Given the description of an element on the screen output the (x, y) to click on. 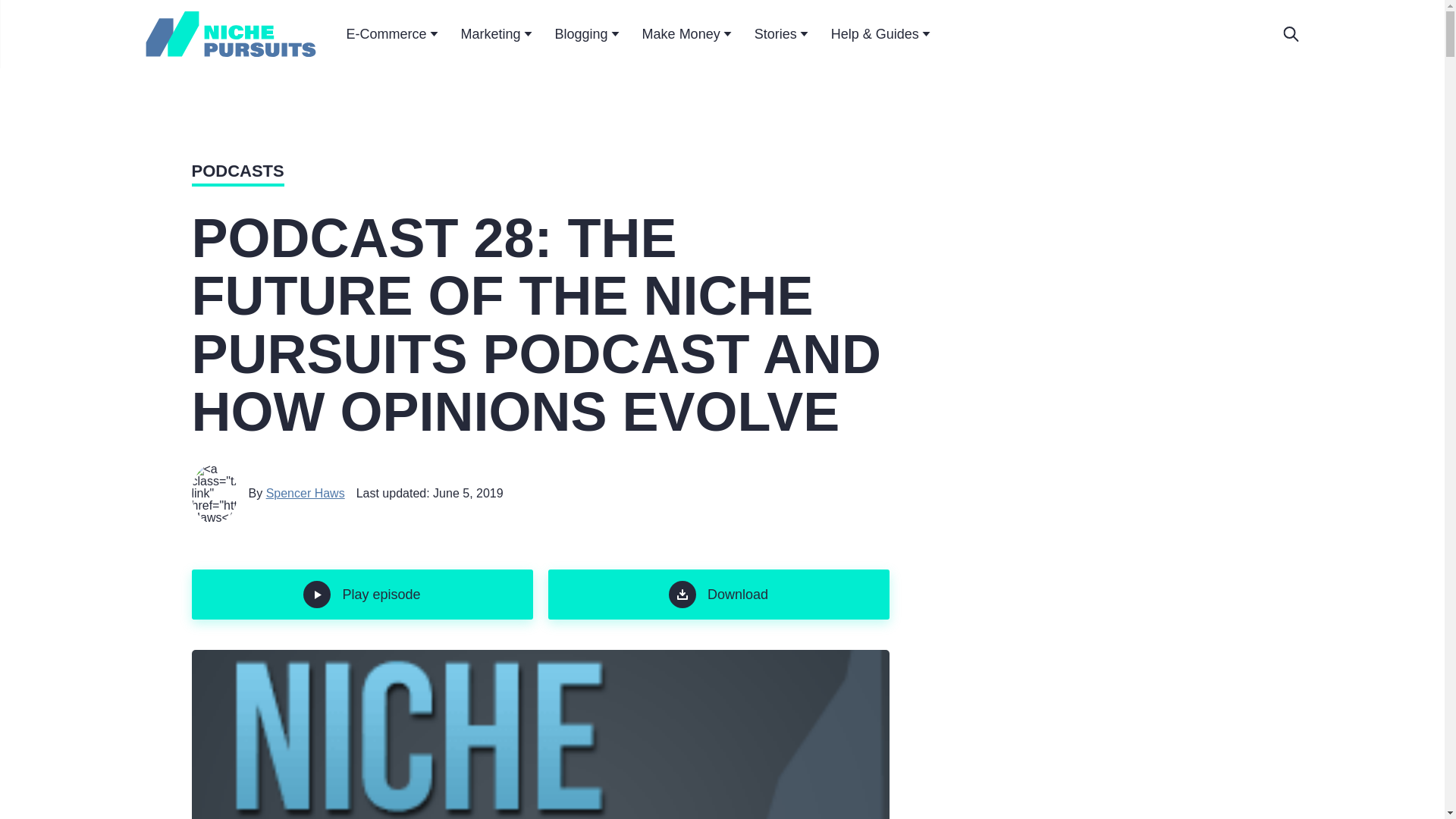
Download (717, 594)
Download (717, 594)
Play episode (361, 594)
Spencer Haws (305, 492)
Make Money (687, 34)
Marketing (496, 34)
PODCASTS (236, 172)
Blogging (587, 34)
E-Commerce (392, 34)
Play episode (361, 594)
